Given the description of an element on the screen output the (x, y) to click on. 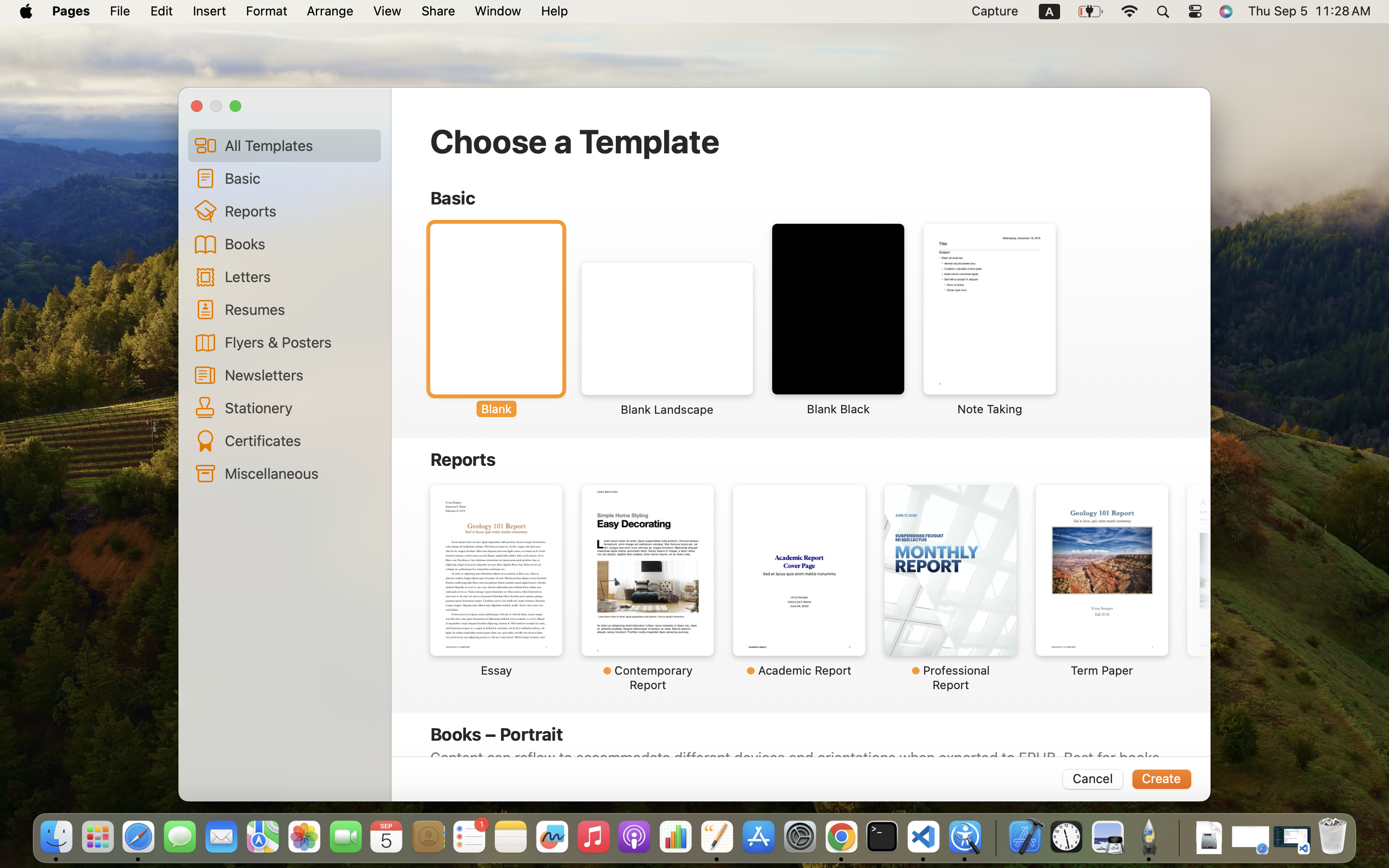
Newsletters Element type: AXStaticText (298, 374)
Letters Element type: AXStaticText (298, 276)
Miscellaneous Element type: AXStaticText (298, 472)
